Given the description of an element on the screen output the (x, y) to click on. 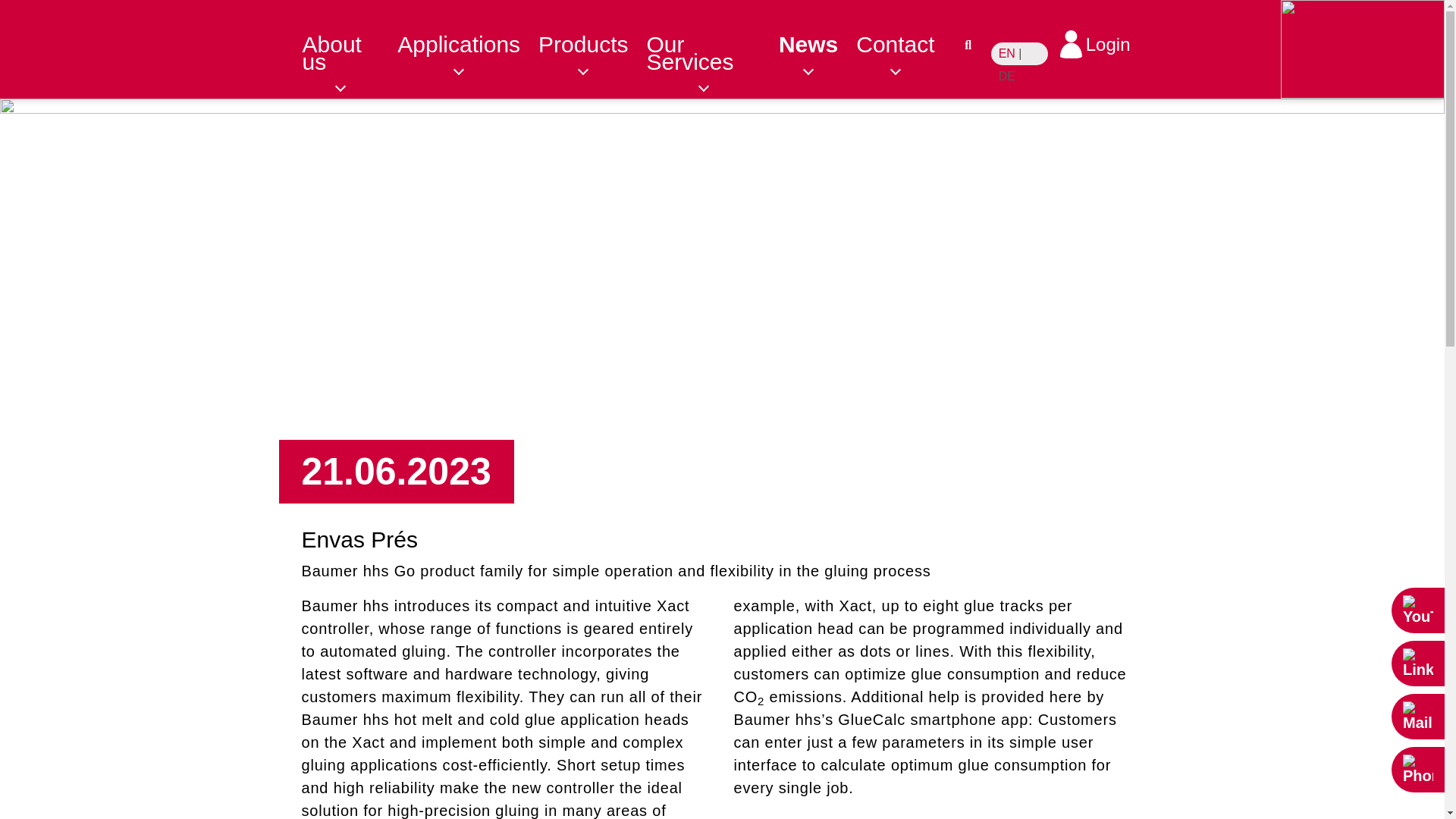
Products (592, 44)
Our Services (711, 53)
About us (349, 53)
About us (349, 53)
News (817, 44)
Applications (467, 44)
Products (592, 44)
Applications (467, 44)
